Given the description of an element on the screen output the (x, y) to click on. 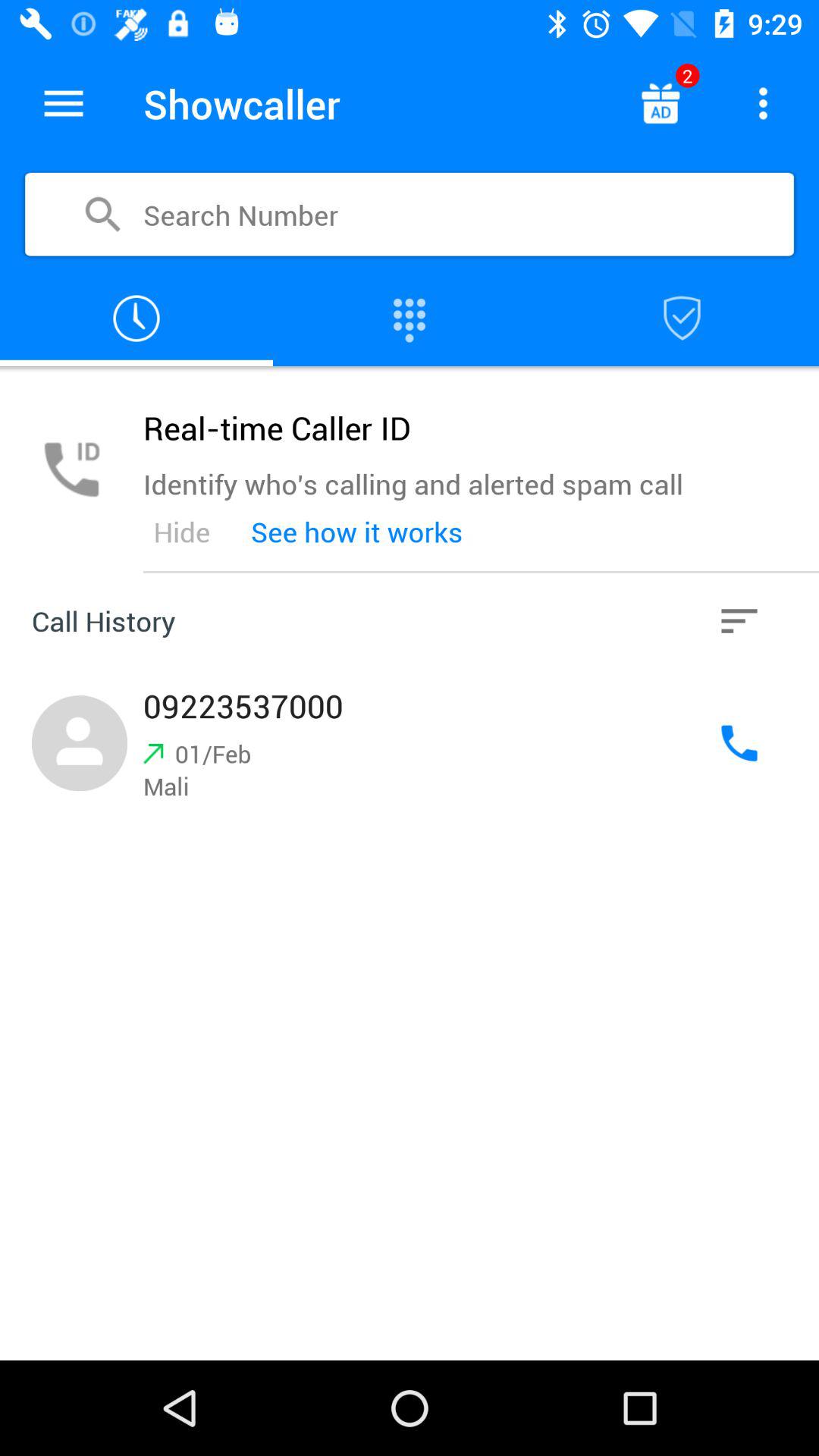
show blocklist (682, 318)
